Given the description of an element on the screen output the (x, y) to click on. 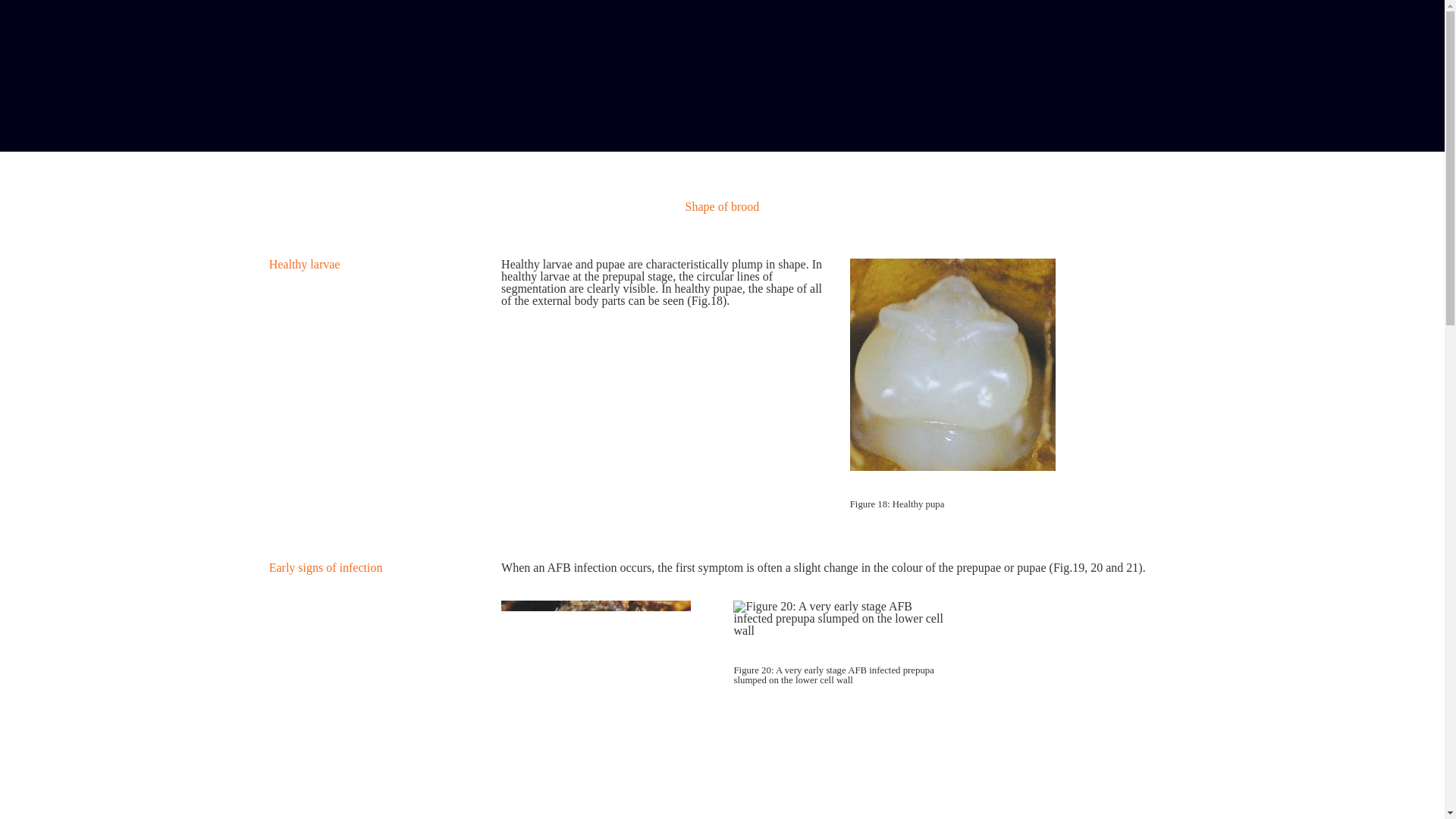
20-Figure-AFB-infected-prepua (837, 618)
21-Fig-AFB-infected-prepupa (1061, 695)
19-Fig-AFB-infected-pupa (595, 695)
18-Fig-Healthy-bee-pupa (952, 364)
